Given the description of an element on the screen output the (x, y) to click on. 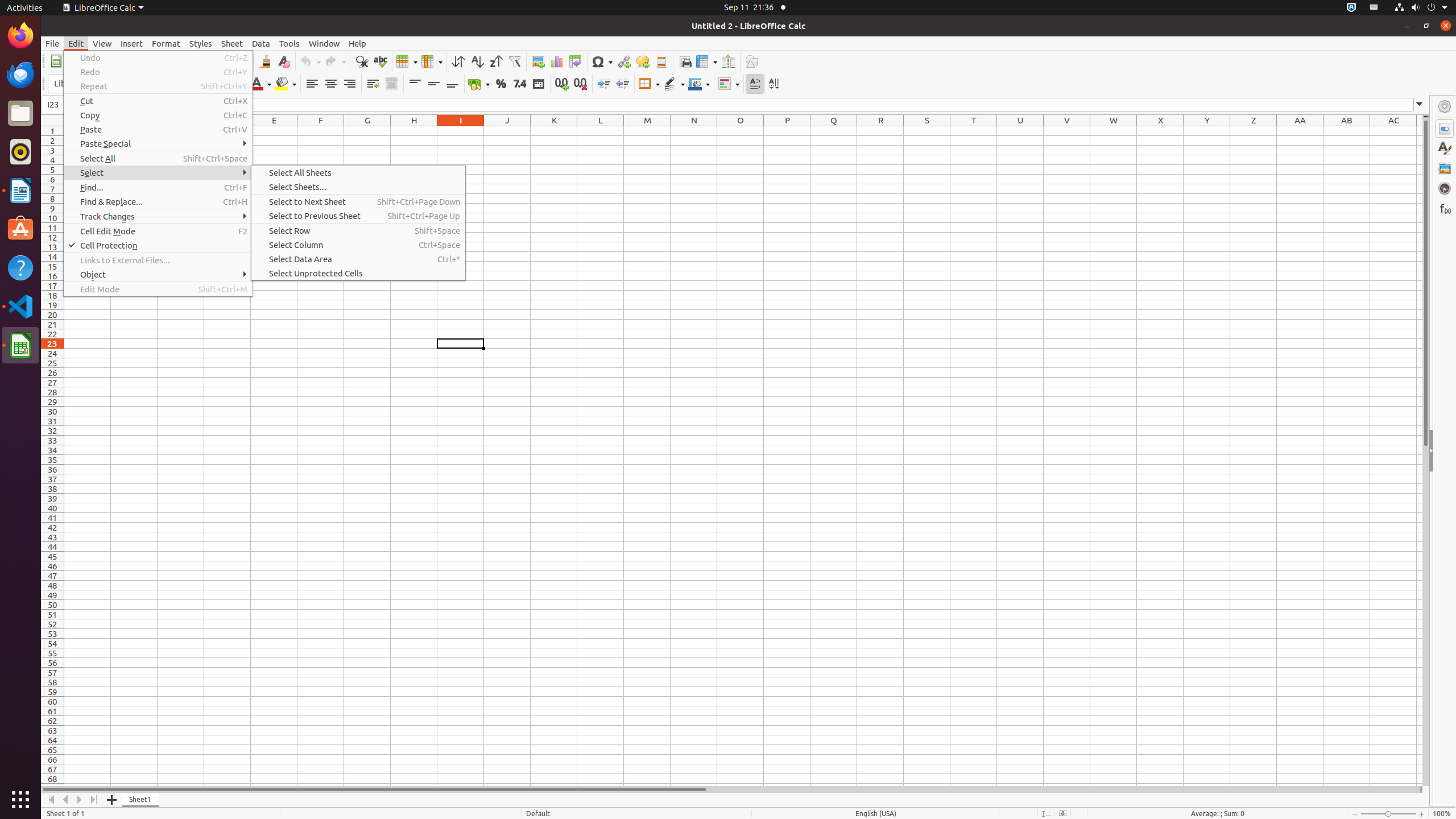
Freeze Rows and Columns Element type: push-button (705, 61)
Background Color Element type: push-button (285, 83)
Row Element type: push-button (406, 61)
Sort Ascending Element type: push-button (476, 61)
